Given the description of an element on the screen output the (x, y) to click on. 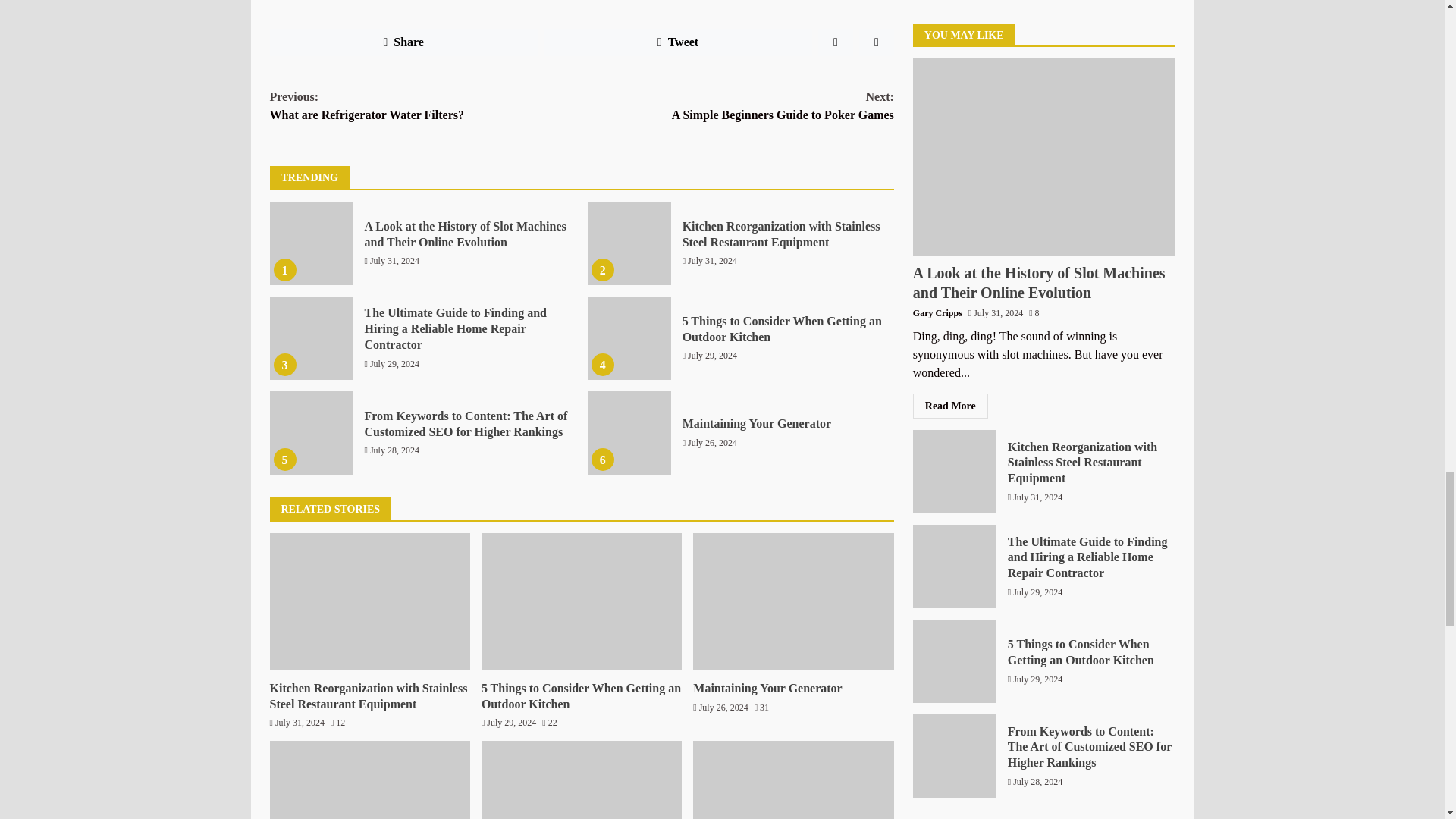
Maintaining Your Generator (629, 433)
5 Things to Consider When Getting an Outdoor Kitchen (782, 328)
Tweet (677, 42)
Share (403, 42)
5 Things to Consider When Getting an Outdoor Kitchen (629, 338)
